Given the description of an element on the screen output the (x, y) to click on. 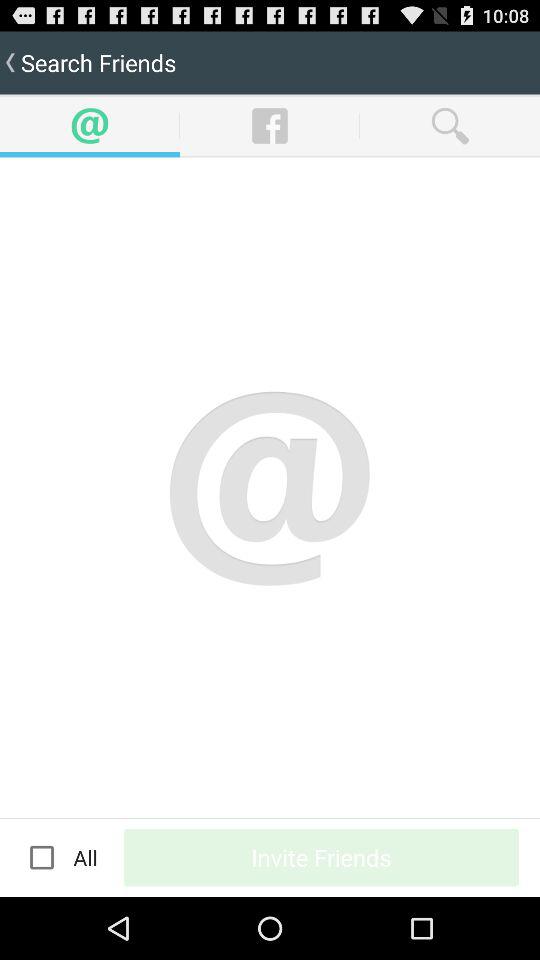
turn off icon next to the all (321, 857)
